Given the description of an element on the screen output the (x, y) to click on. 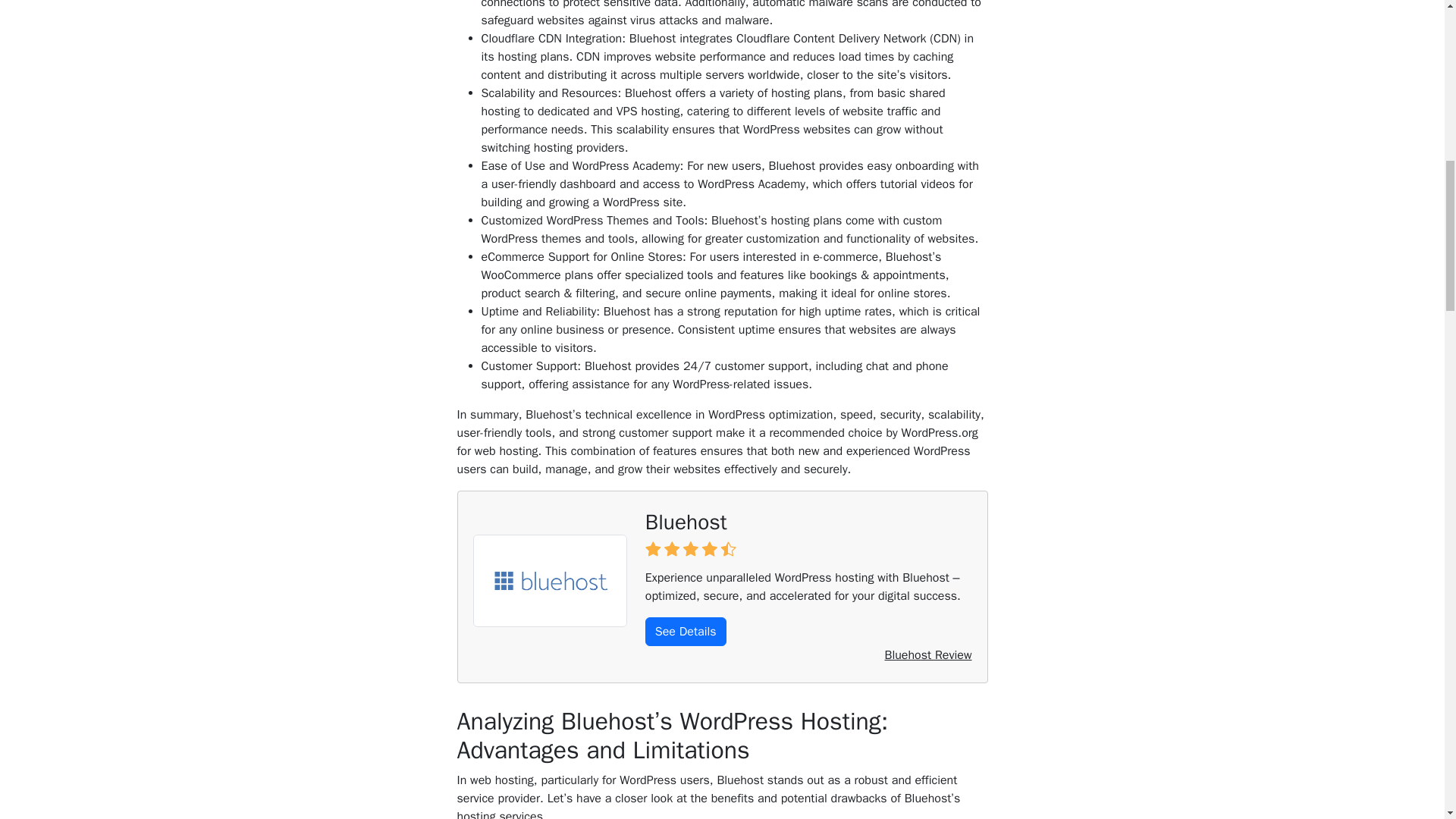
See Details (685, 631)
Bluehost Review (927, 655)
